Given the description of an element on the screen output the (x, y) to click on. 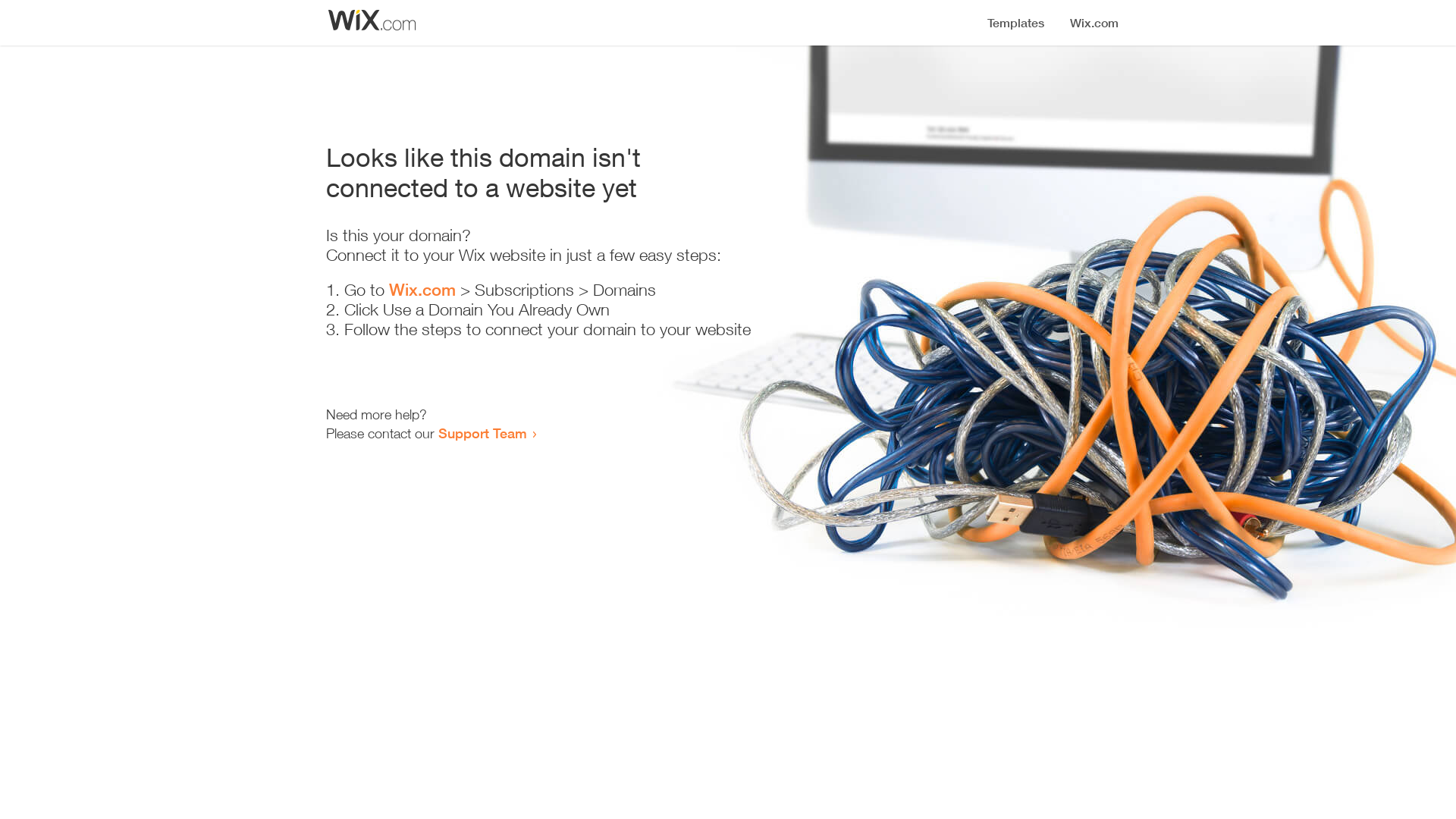
Support Team Element type: text (482, 432)
Wix.com Element type: text (422, 289)
